Given the description of an element on the screen output the (x, y) to click on. 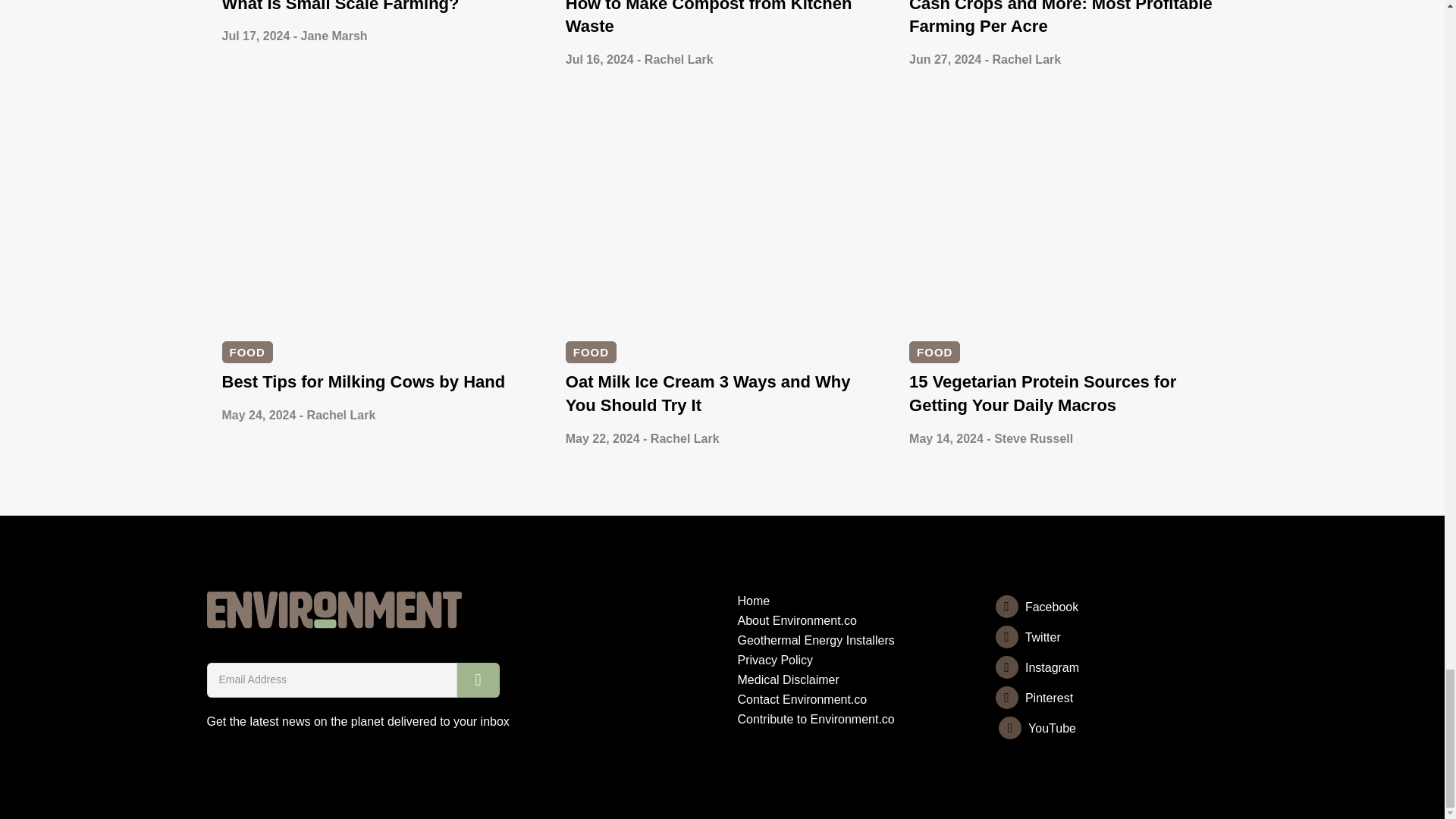
Best Tips for Milking Cows by Hand (363, 381)
Rachel Lark (679, 59)
15 Vegetarian Protein Sources for Getting Your Daily Macros (1042, 393)
What Is Small Scale Farming? (339, 6)
What Is Small Scale Farming? (339, 6)
How to Make Compost from Kitchen Waste (708, 18)
Jane Marsh (334, 35)
Oat Milk Ice Cream 3 Ways and Why You Should Try It (708, 393)
How to Make Compost from Kitchen Waste (708, 18)
Cash Crops and More: Most Profitable Farming Per Acre (1060, 18)
